Given the description of an element on the screen output the (x, y) to click on. 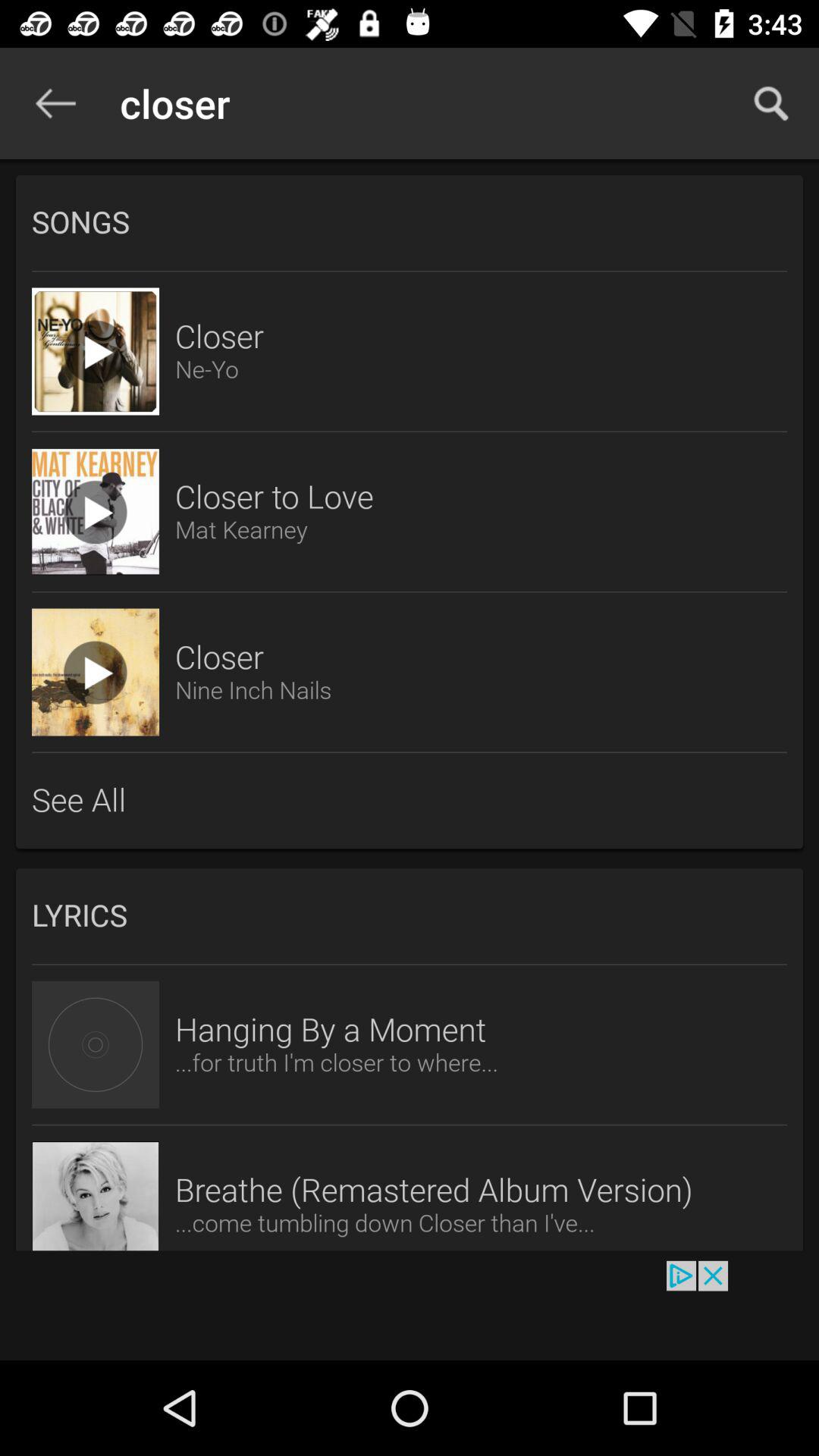
jump to the songs (409, 222)
